Given the description of an element on the screen output the (x, y) to click on. 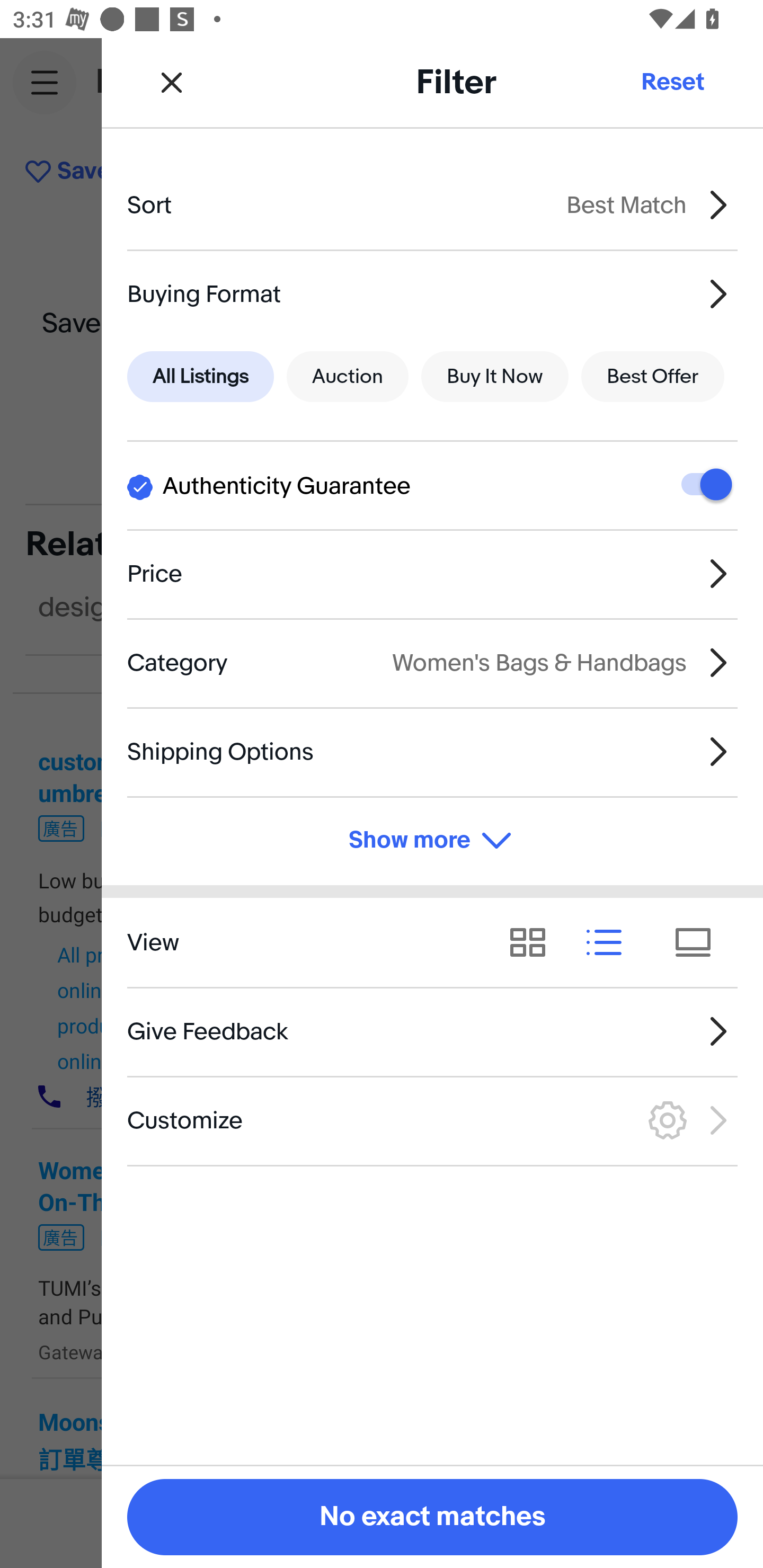
Close Filter (171, 81)
Reset (672, 81)
Buying Format (432, 293)
All Listings (200, 376)
Auction (347, 376)
Buy It Now (494, 376)
Best Offer (652, 376)
I  Authenticity Guarantee (432, 484)
Price (432, 573)
Category Women's Bags & Handbags (432, 662)
Shipping Options (432, 751)
Show more (432, 840)
View results as grid (533, 942)
View results as list (610, 942)
View results as tiles (699, 942)
Customize (432, 1120)
No exact matches (432, 1516)
